Given the description of an element on the screen output the (x, y) to click on. 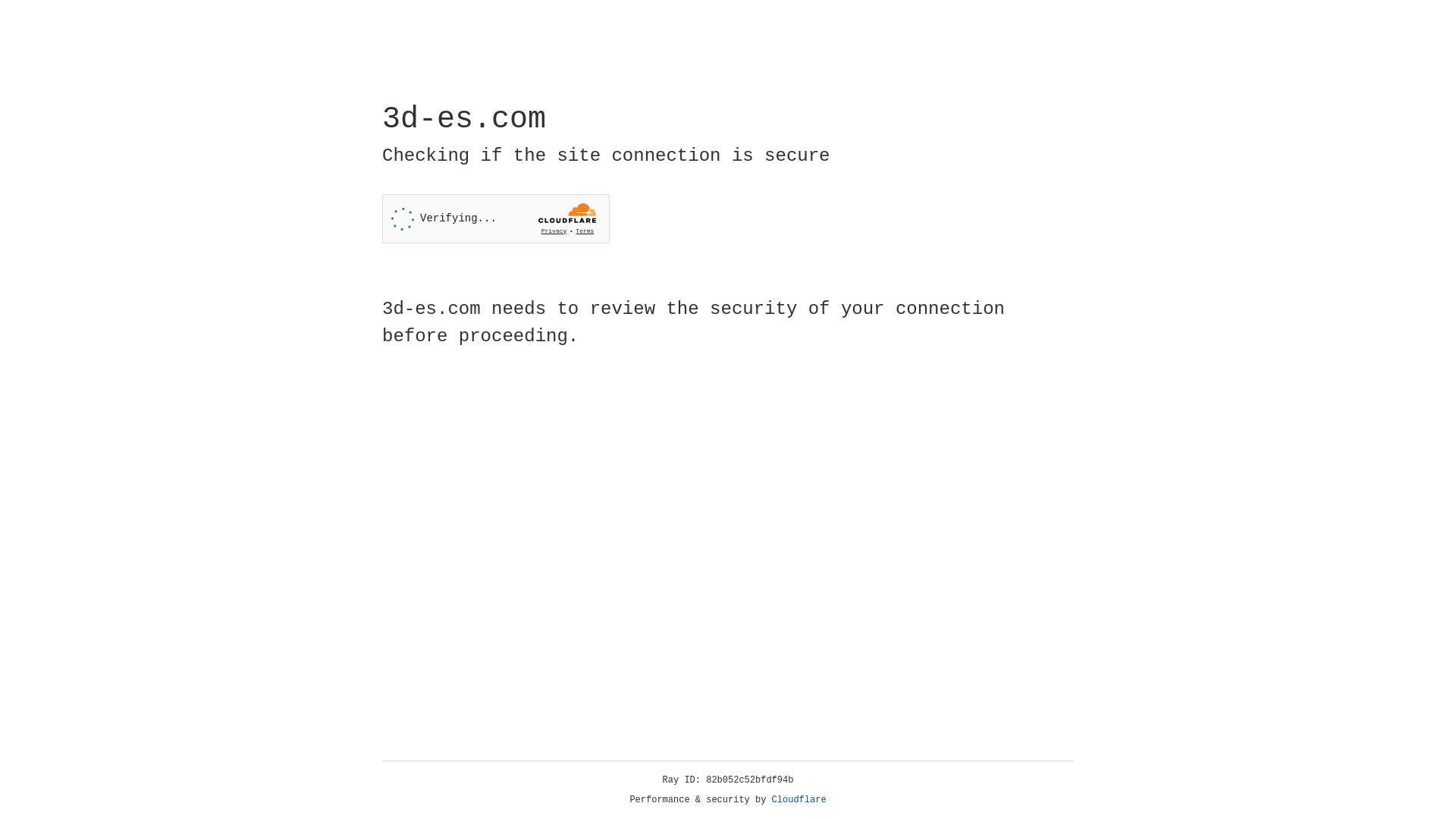
Cloudflare Element type: text (165, 129)
Widget containing a Cloudflare security challenge Element type: hover (495, 218)
